Given the description of an element on the screen output the (x, y) to click on. 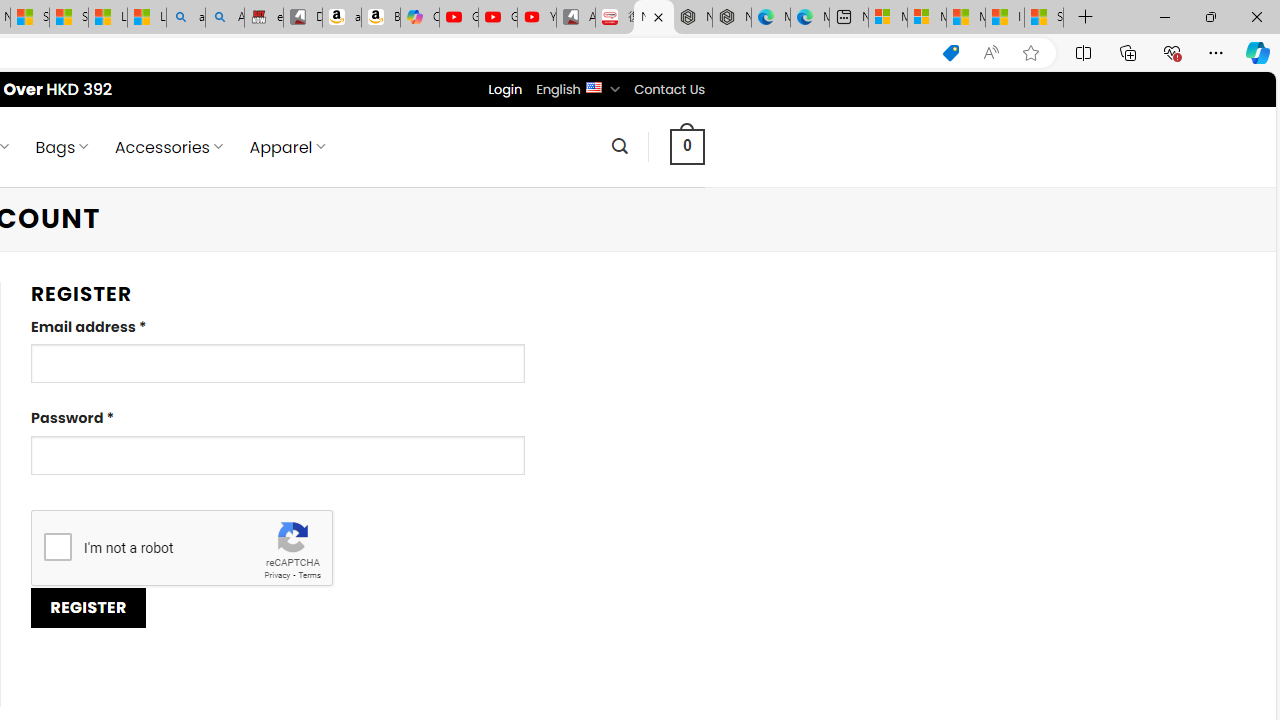
This site has coupons! Shopping in Microsoft Edge (950, 53)
I Gained 20 Pounds of Muscle in 30 Days! | Watch (1004, 17)
 0  (687, 146)
